Given the description of an element on the screen output the (x, y) to click on. 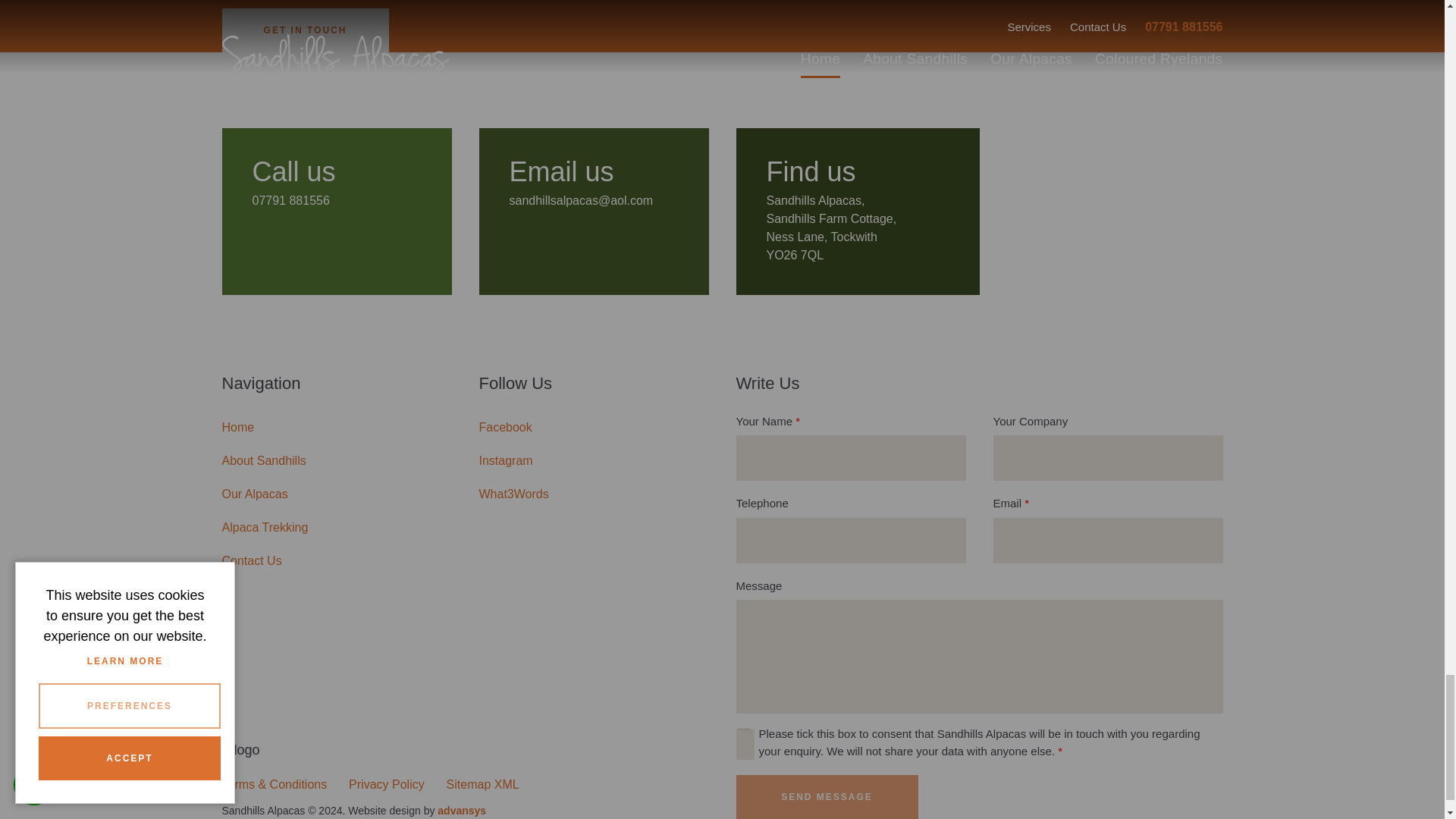
Facebook (594, 427)
Contact Us (336, 561)
Home (336, 427)
07791 881556 (290, 200)
Our Alpacas (336, 494)
About Sandhills (336, 460)
GET IN TOUCH (304, 30)
Alpaca Trekking (336, 527)
